Given the description of an element on the screen output the (x, y) to click on. 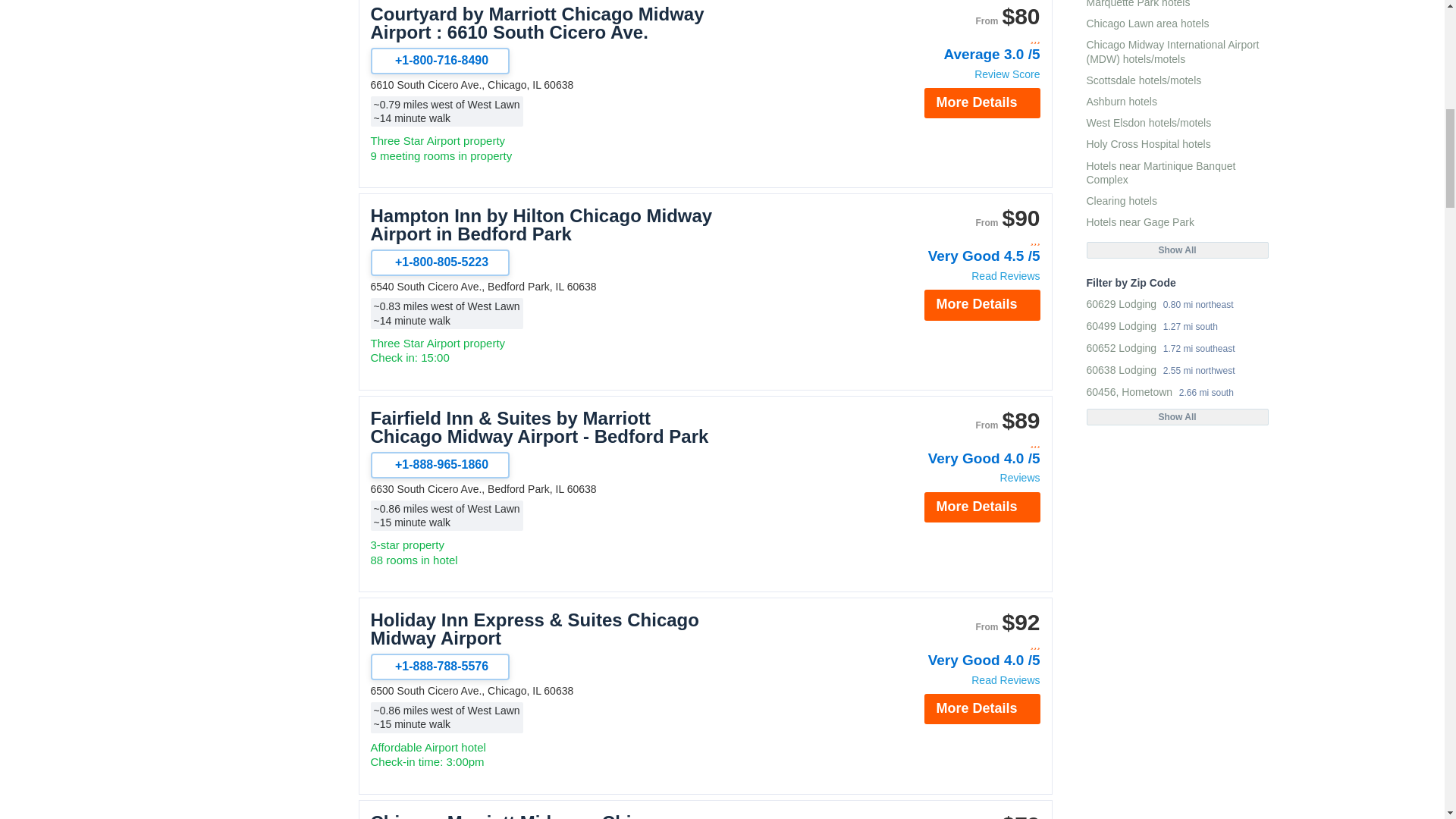
3 stars (958, 644)
3 stars (958, 240)
3 stars (958, 38)
3 stars (958, 442)
